Given the description of an element on the screen output the (x, y) to click on. 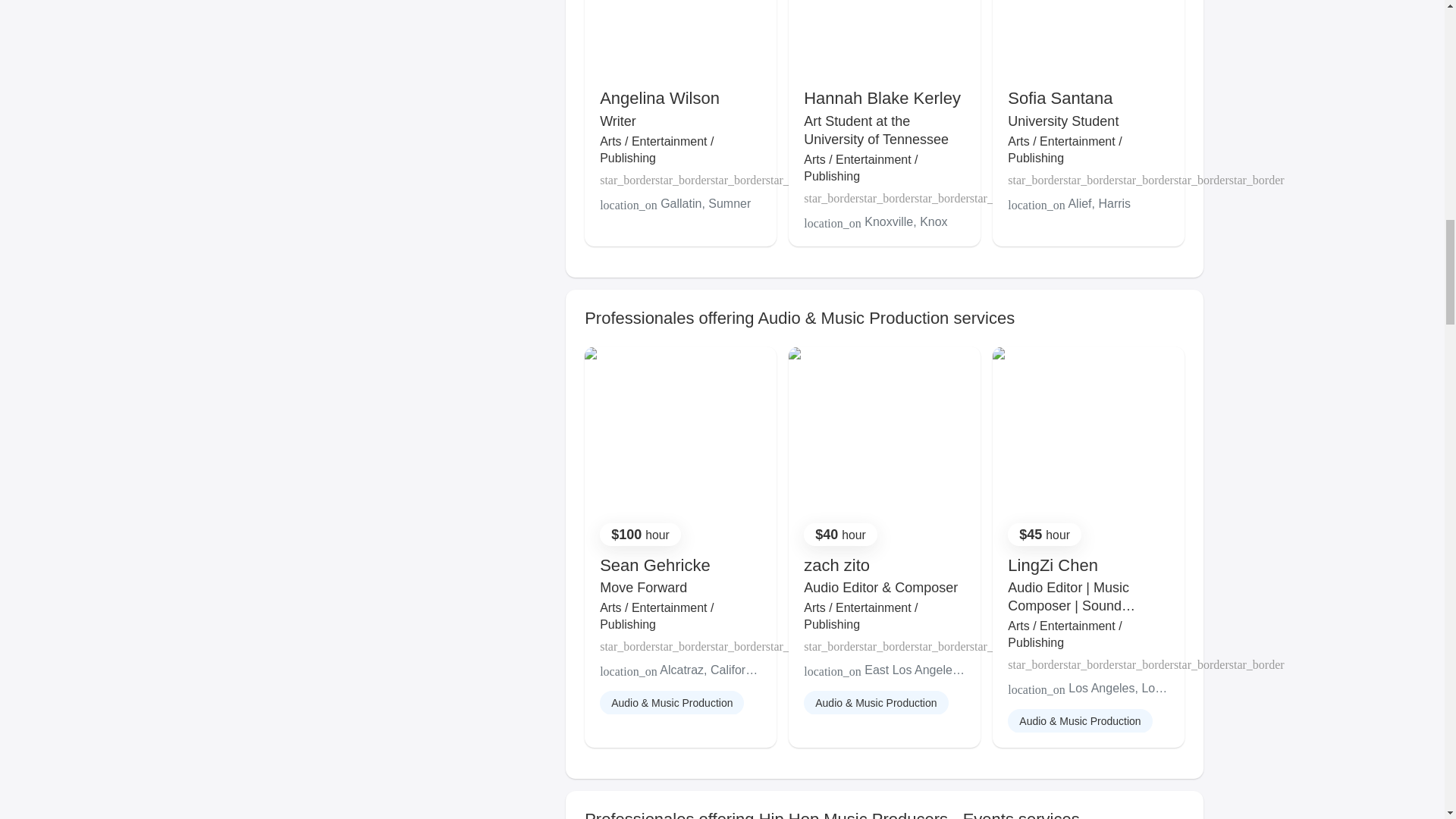
Sean Gehricke (654, 565)
Hannah Blake Kerley (881, 97)
Angelina Wilson (659, 97)
Sean Gehricke (654, 565)
Angelina Wilson (659, 97)
zach zito (836, 565)
LingZi Chen (1052, 565)
LingZi  Chen (1052, 565)
Sofia Santana (1059, 97)
Hannah Blake Kerley (881, 97)
Sofia Santana (1059, 97)
zach zito (836, 565)
